Given the description of an element on the screen output the (x, y) to click on. 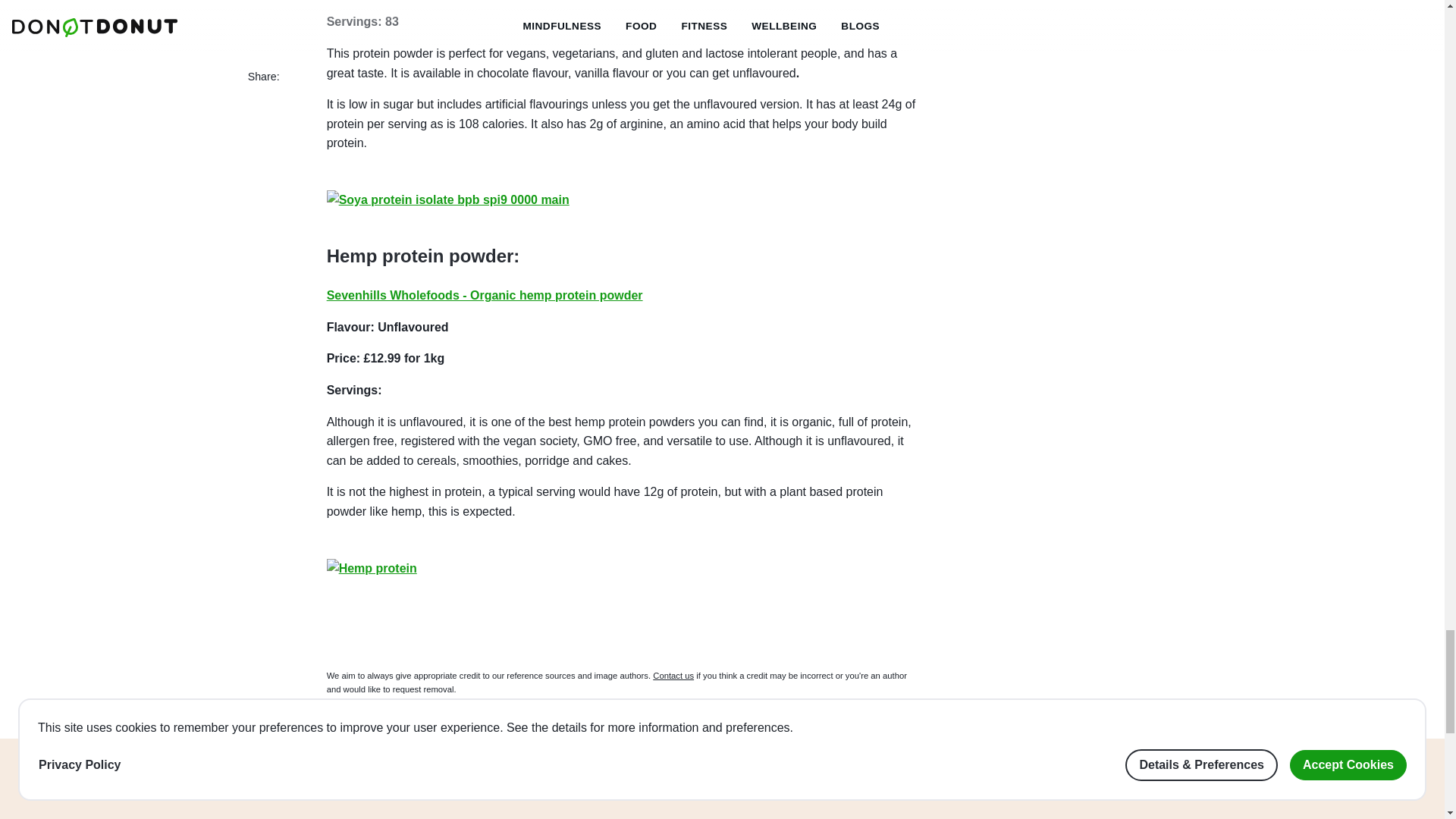
Sevenhills Wholefoods - Organic hemp protein powder (484, 295)
Contact us (673, 675)
